Given the description of an element on the screen output the (x, y) to click on. 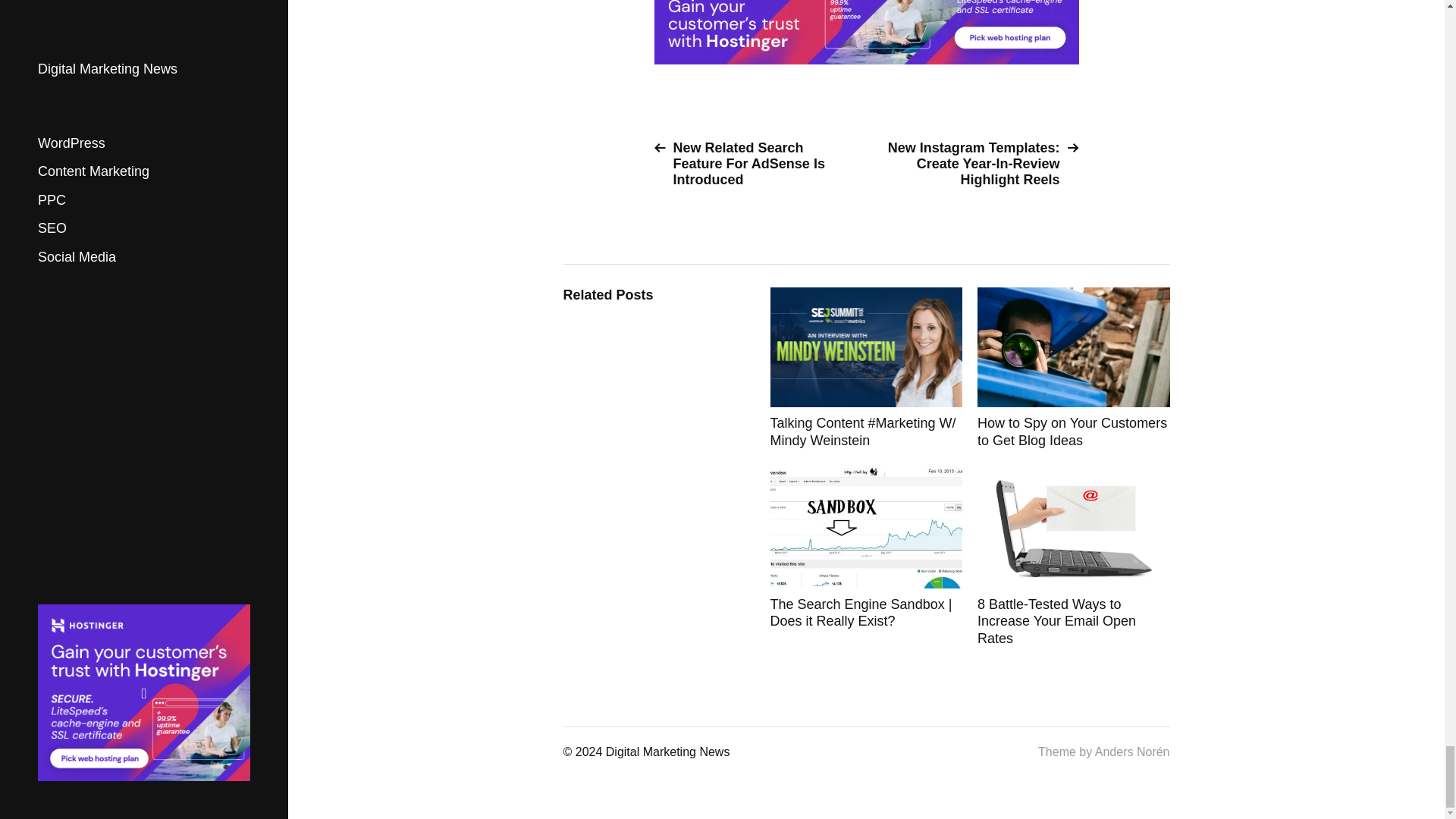
New Related Search Feature For AdSense Is Introduced (753, 164)
How to Spy on Your Customers to Get Blog Ideas (1073, 367)
